Given the description of an element on the screen output the (x, y) to click on. 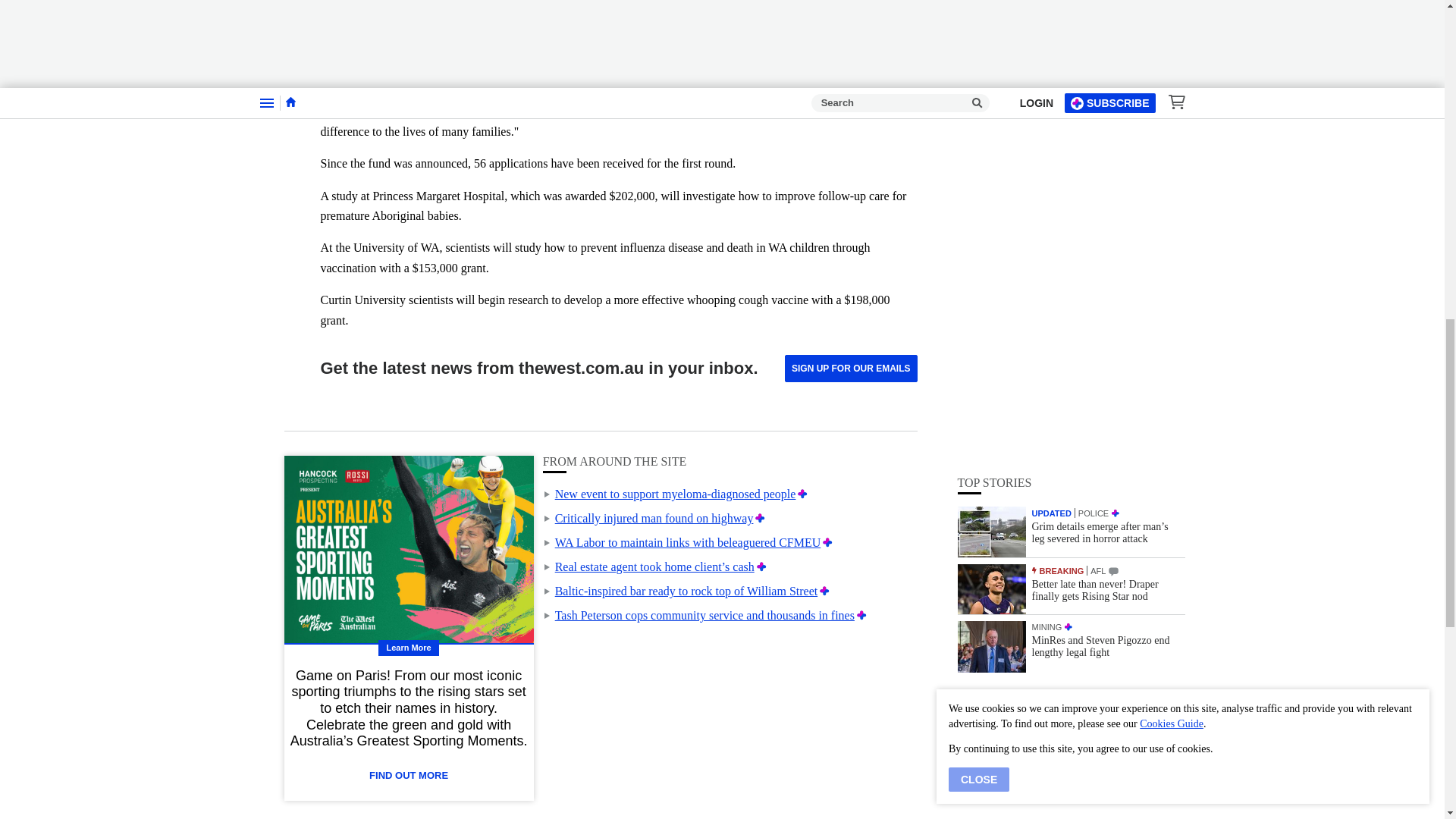
Premium (802, 493)
Premium (861, 615)
Premium (760, 517)
Premium (824, 590)
Premium (827, 542)
Premium (761, 566)
COMMENTS (1113, 169)
PREMIUM (1115, 112)
PREMIUM (1068, 225)
